Given the description of an element on the screen output the (x, y) to click on. 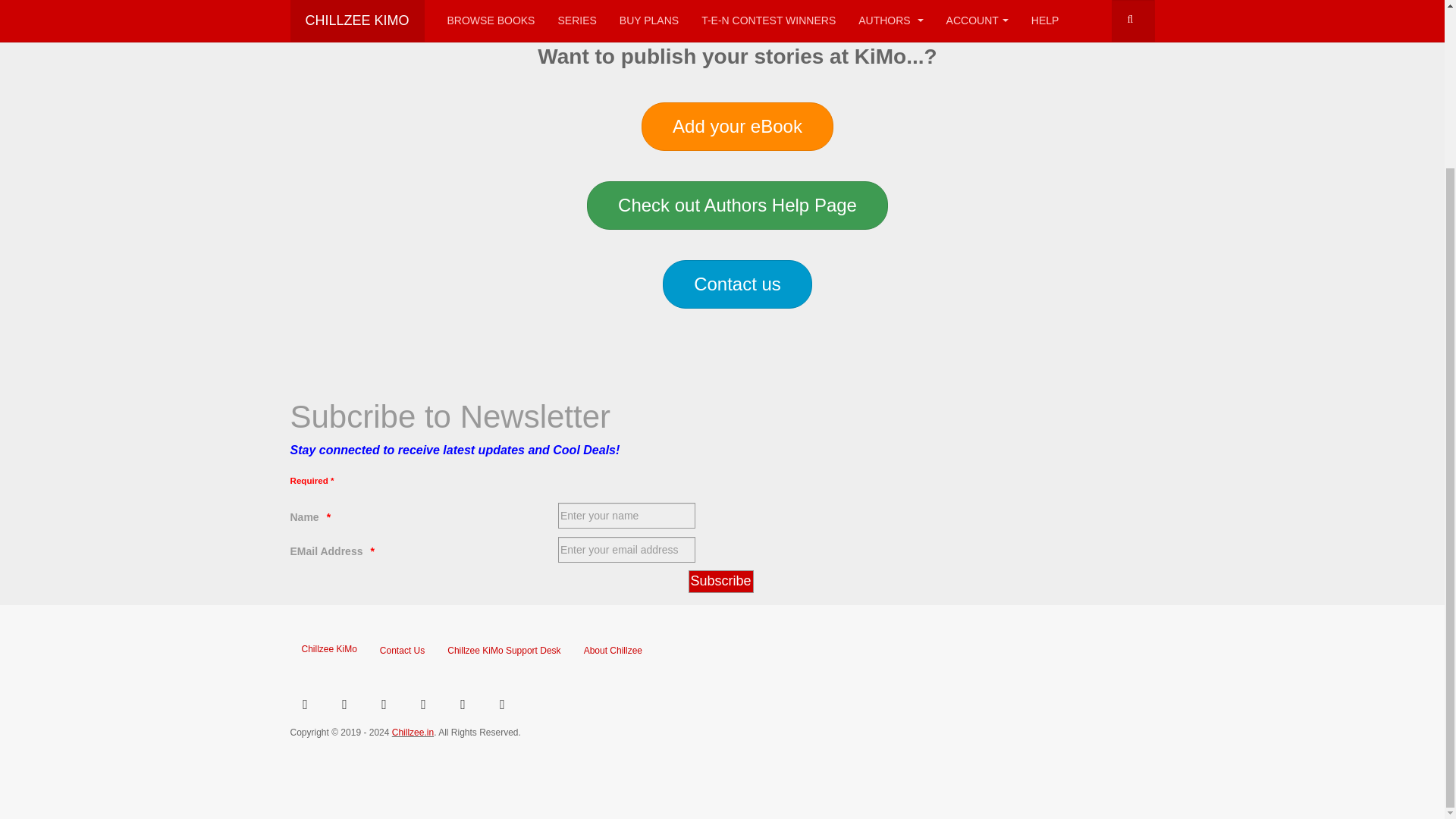
Enter your email address (325, 551)
Instagram (383, 702)
Chillzee KiMo Support Desk (503, 651)
Chillzee.in (412, 732)
Pinterest (422, 702)
Contact us (737, 284)
Twitter (344, 702)
Facebook (501, 702)
Subscribe (721, 581)
Subscribe (721, 581)
